Given the description of an element on the screen output the (x, y) to click on. 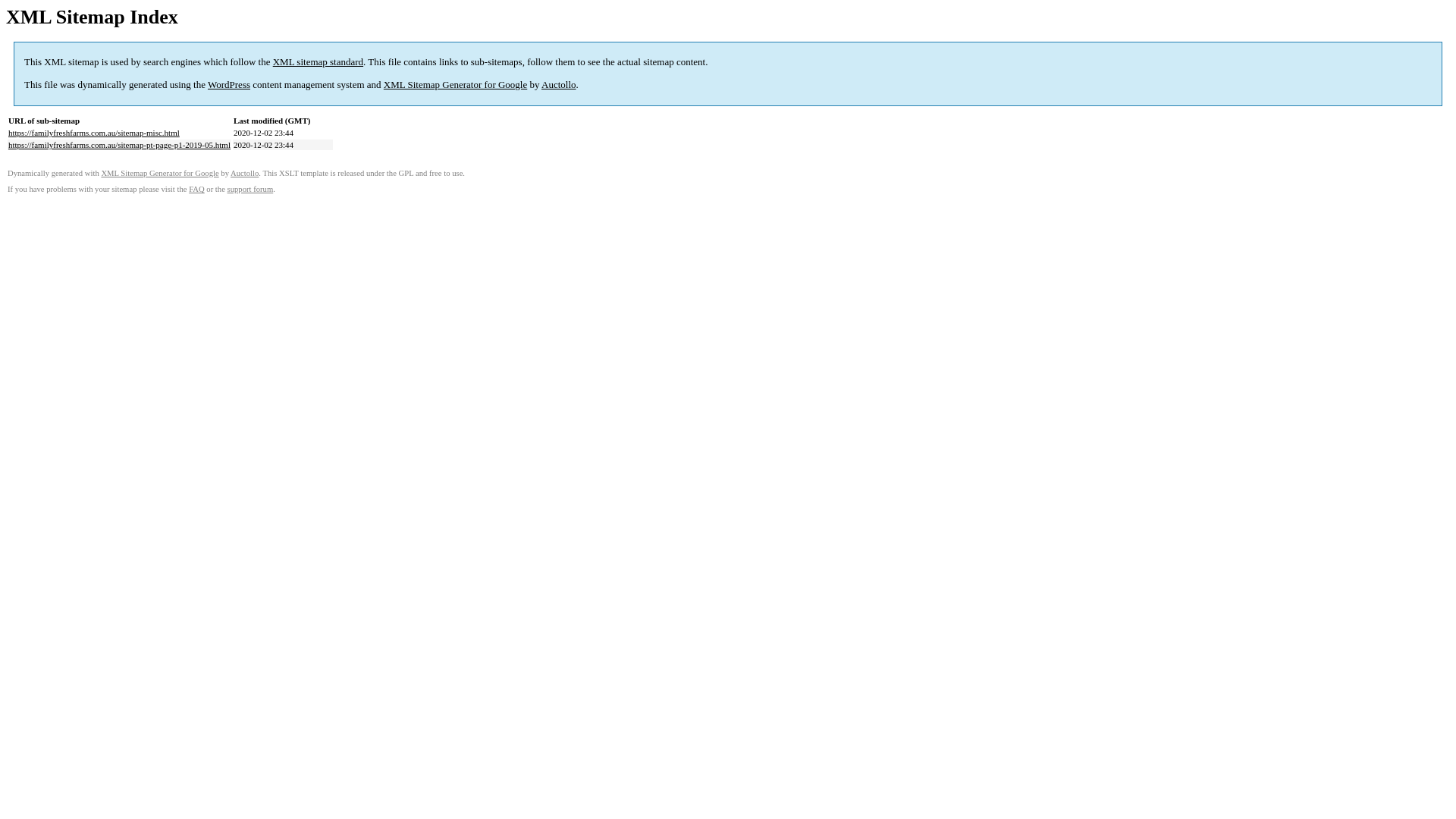
support forum Element type: text (250, 189)
FAQ Element type: text (196, 189)
Auctollo Element type: text (244, 173)
XML Sitemap Generator for Google Element type: text (455, 84)
Auctollo Element type: text (558, 84)
XML sitemap standard Element type: text (318, 61)
https://familyfreshfarms.com.au/sitemap-misc.html Element type: text (93, 132)
XML Sitemap Generator for Google Element type: text (159, 173)
WordPress Element type: text (228, 84)
